Given the description of an element on the screen output the (x, y) to click on. 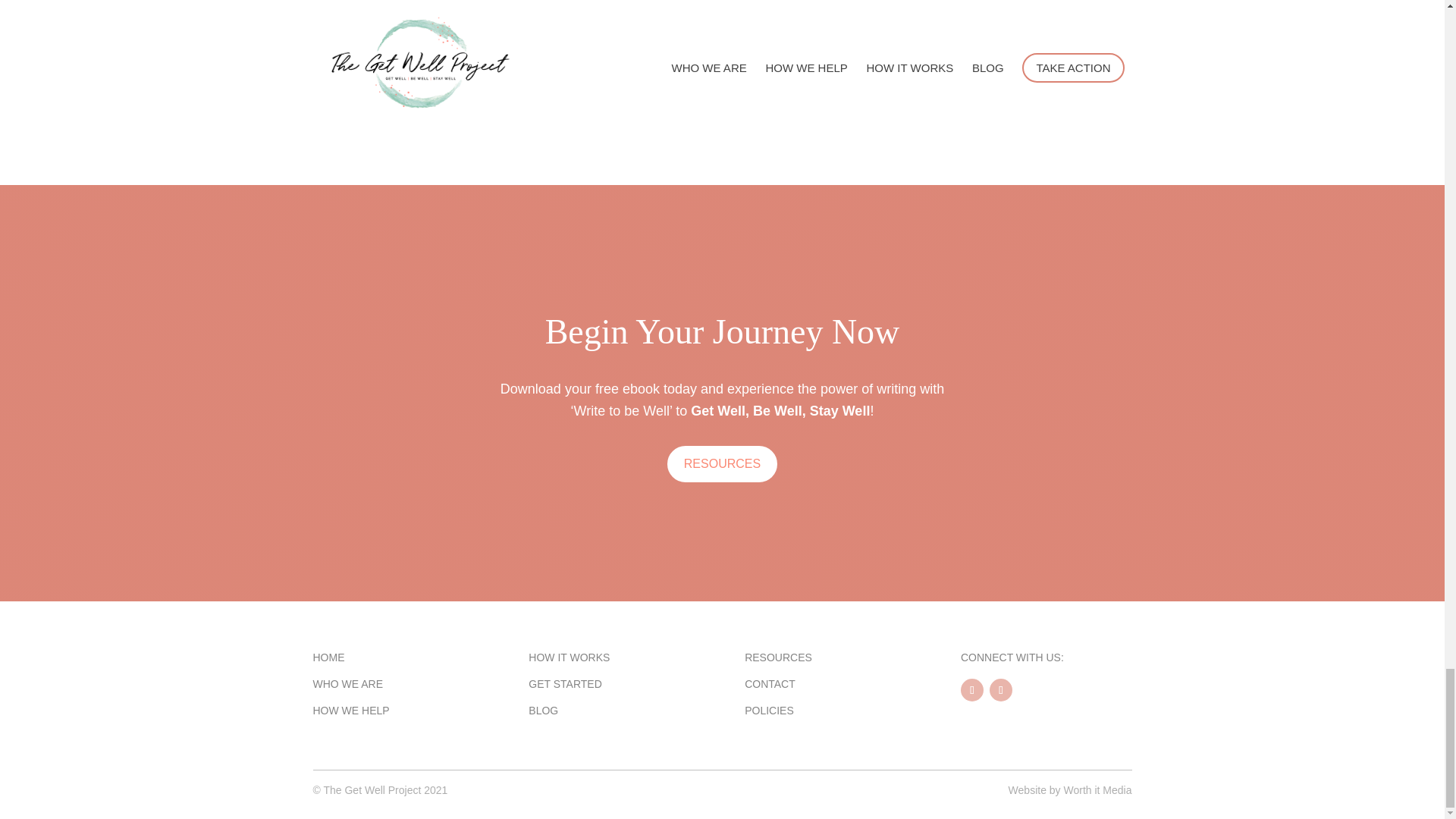
RESOURCES (778, 657)
HOW WE HELP (350, 710)
RESOURCES (721, 463)
BLOG (542, 710)
Follow on Instagram (1000, 689)
FIND OUT MORE (740, 83)
Follow on Facebook (972, 689)
Worth it Media (1096, 789)
HOW IT WORKS (569, 657)
HOME (328, 657)
